Given the description of an element on the screen output the (x, y) to click on. 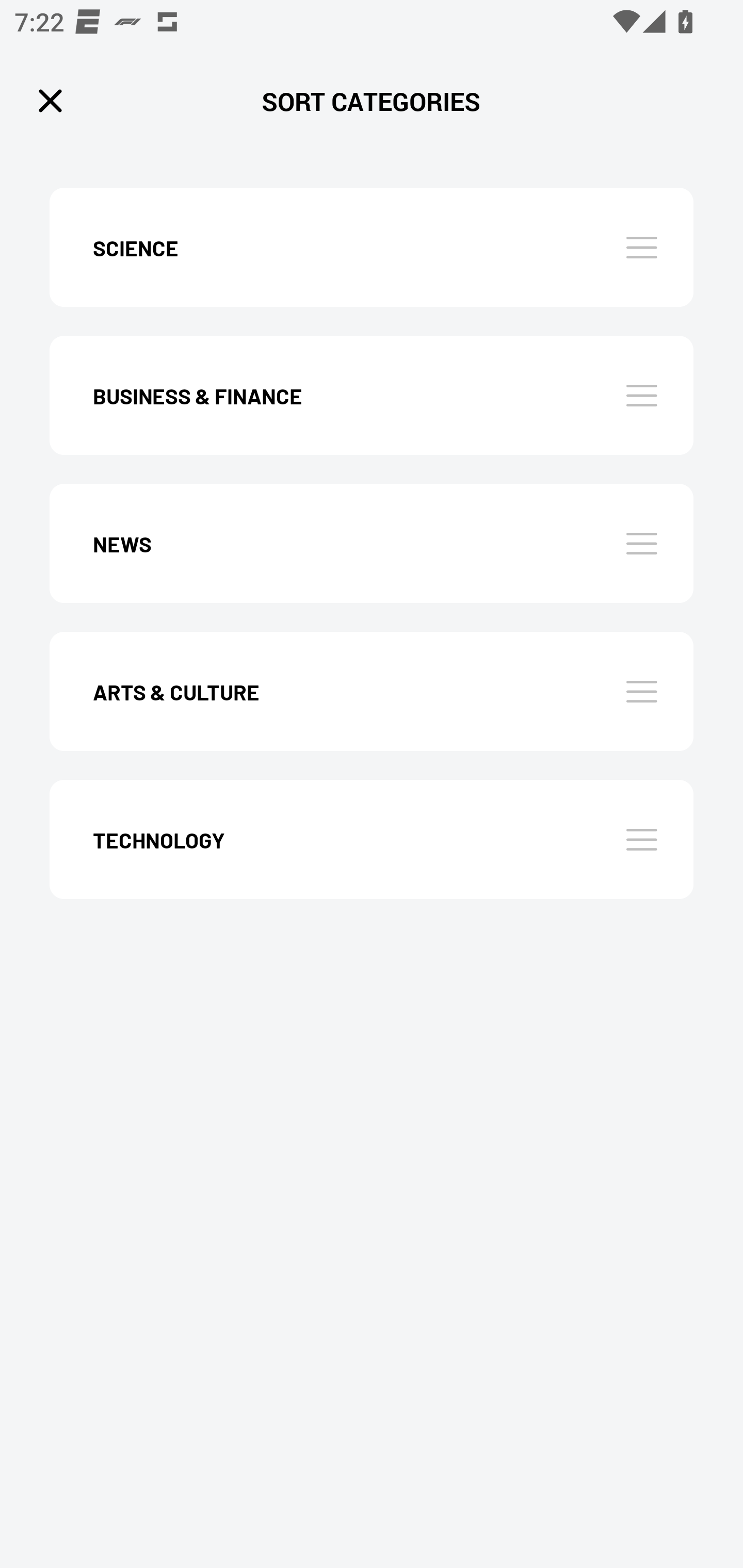
Leading Icon (50, 101)
